Given the description of an element on the screen output the (x, y) to click on. 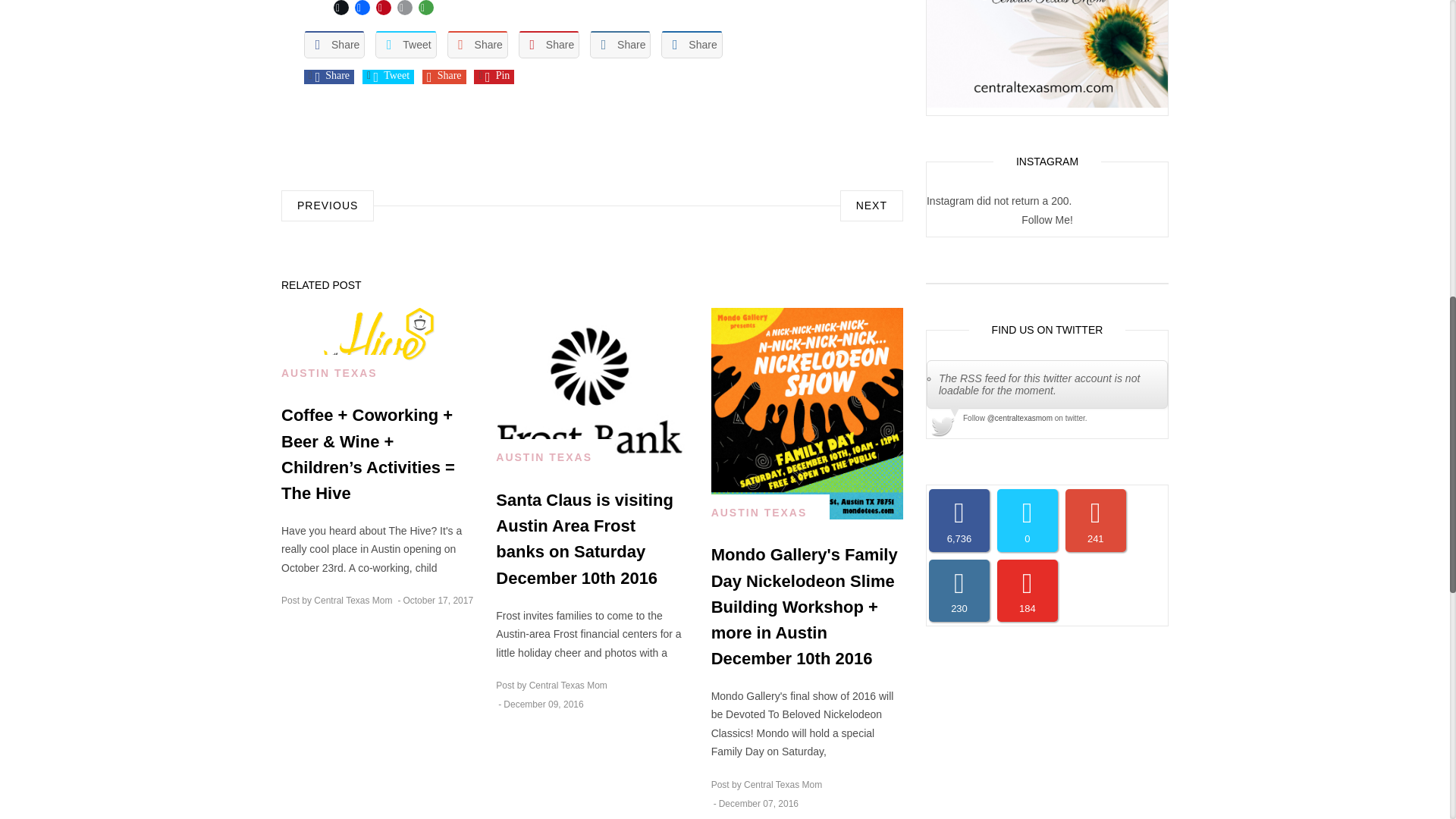
Pinterest (383, 9)
share on facebook (332, 75)
Share on Linkedin (619, 44)
Share on Google Plus (477, 44)
Share on Pinterest (548, 44)
Tweet on Twitter (392, 75)
Email This (404, 9)
More Options (425, 9)
Facebook (362, 9)
Share on Digg (691, 44)
Share on Twitter (405, 44)
Share on Facebook (334, 44)
